Given the description of an element on the screen output the (x, y) to click on. 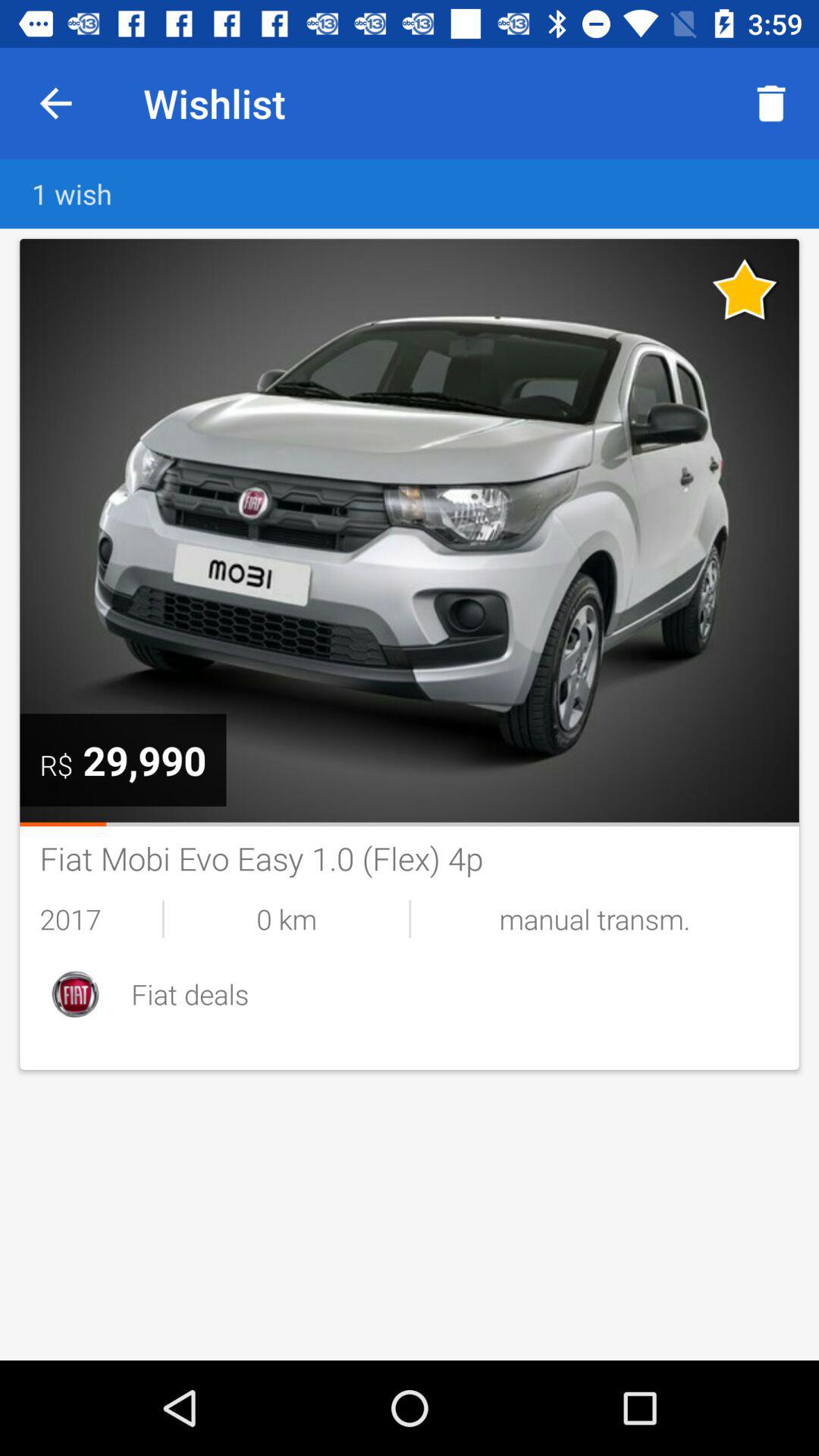
press the item below fiat mobi evo item (595, 918)
